Given the description of an element on the screen output the (x, y) to click on. 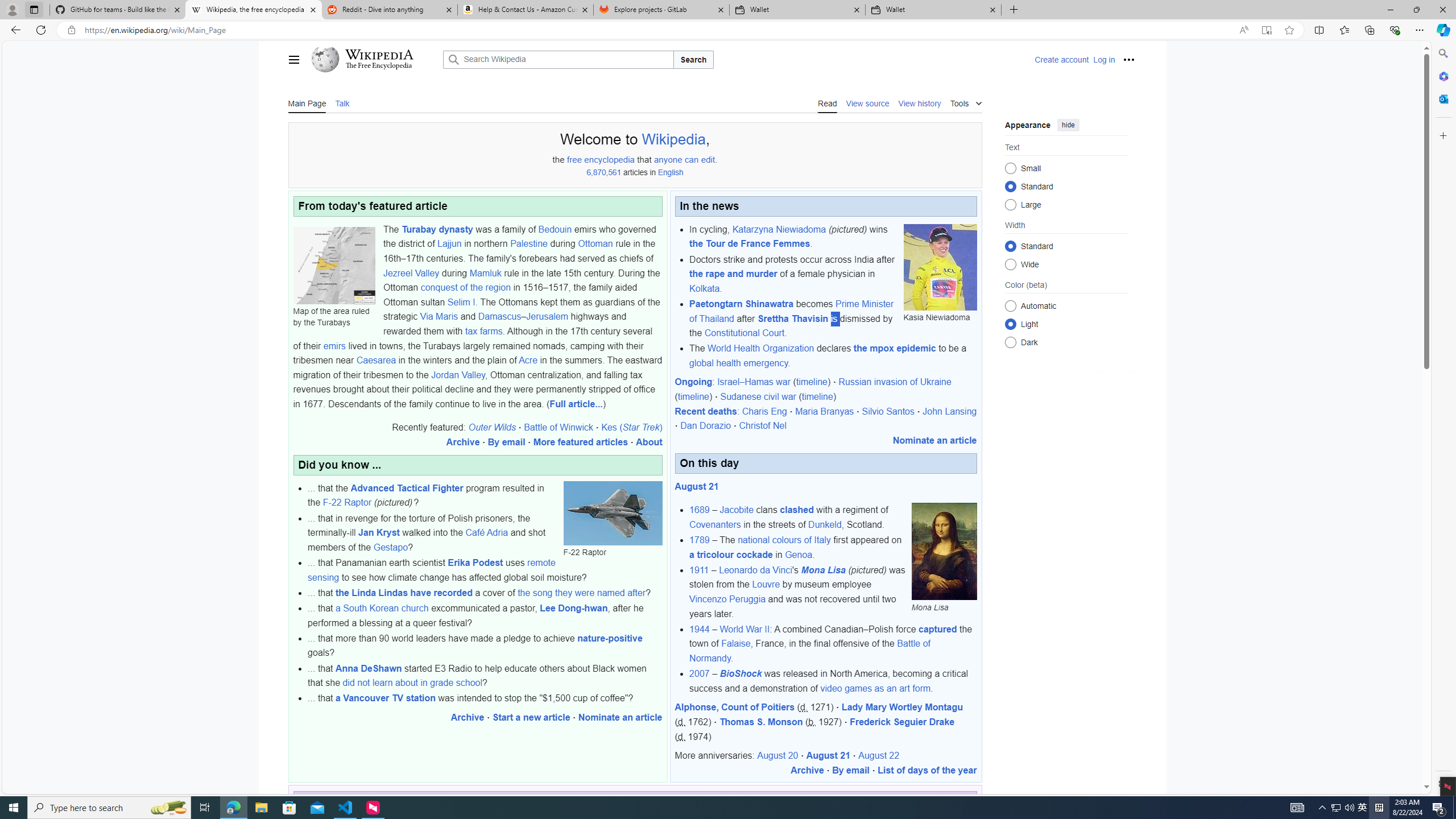
Jezreel Valley (410, 272)
View history (919, 102)
2007 (699, 673)
Class: mw-list-item mw-list-item-js (1066, 323)
Personal tools (1128, 59)
Customize (1442, 135)
Vincenzo Peruggia (726, 599)
timeline (816, 396)
Main menu (292, 59)
